Given the description of an element on the screen output the (x, y) to click on. 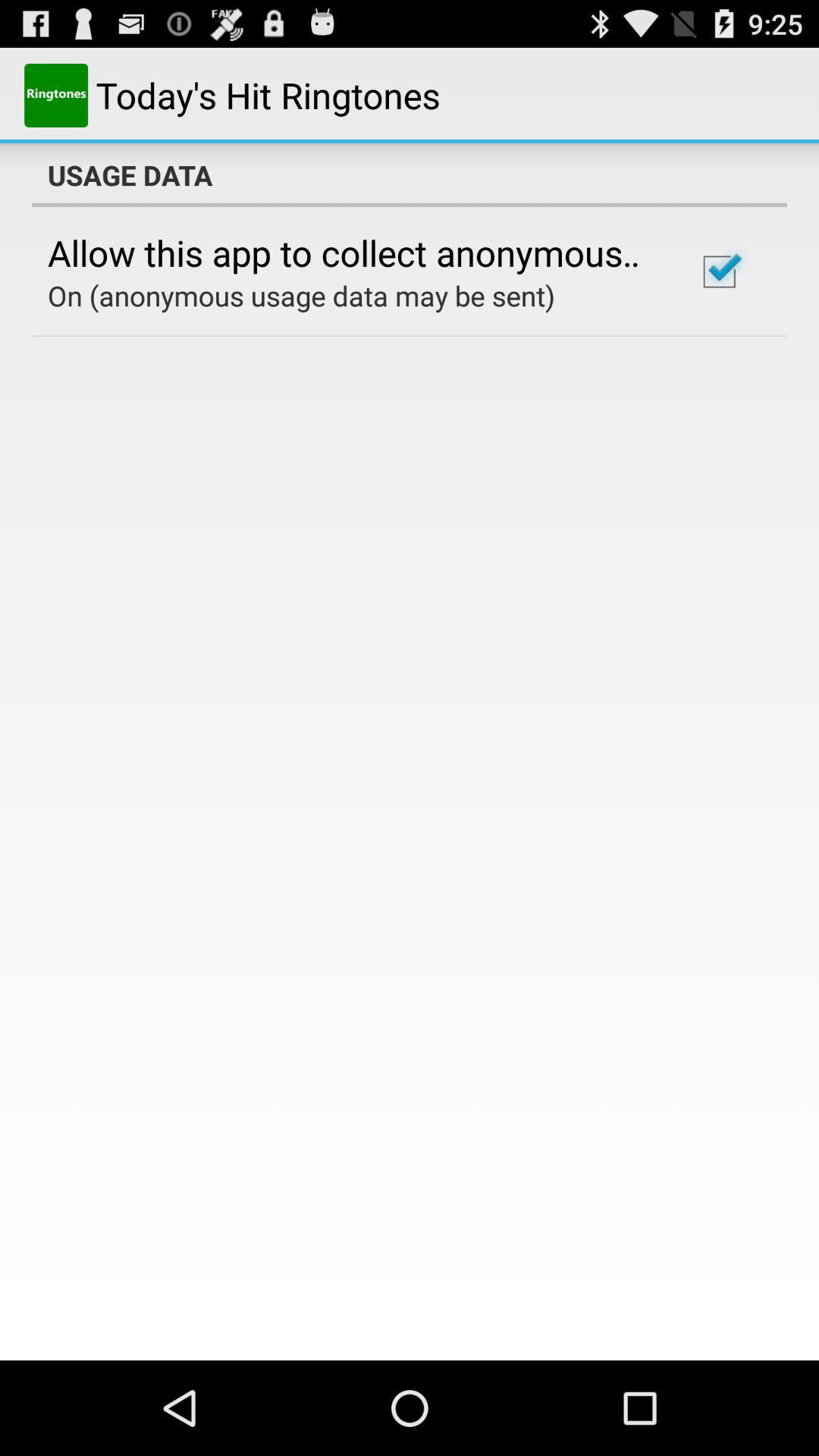
press the app below the usage data icon (351, 252)
